Given the description of an element on the screen output the (x, y) to click on. 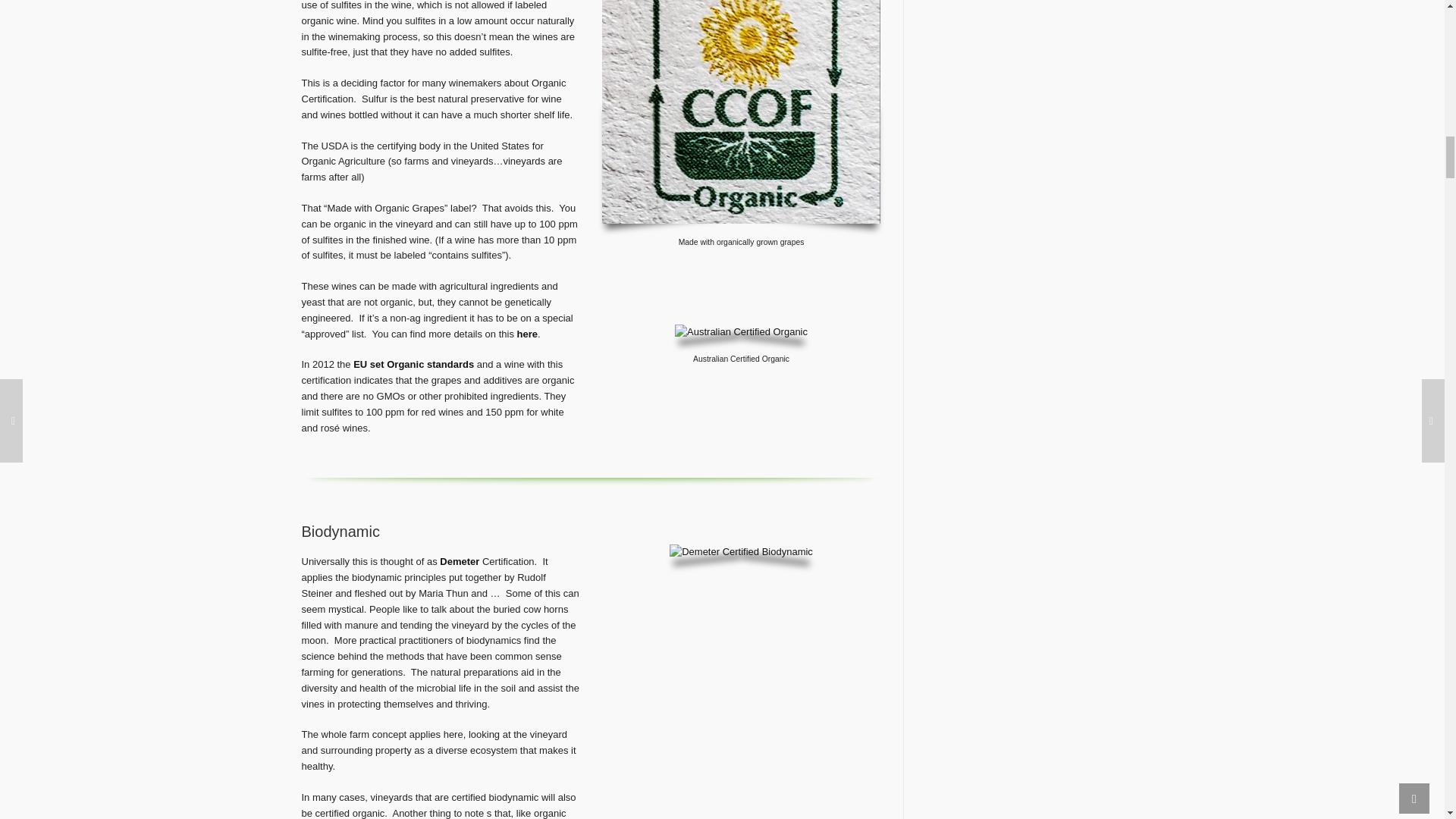
Australian Certified Organic (741, 332)
Made with organically grown grapes (741, 111)
Demeter Certified Biodynamic (740, 552)
